Given the description of an element on the screen output the (x, y) to click on. 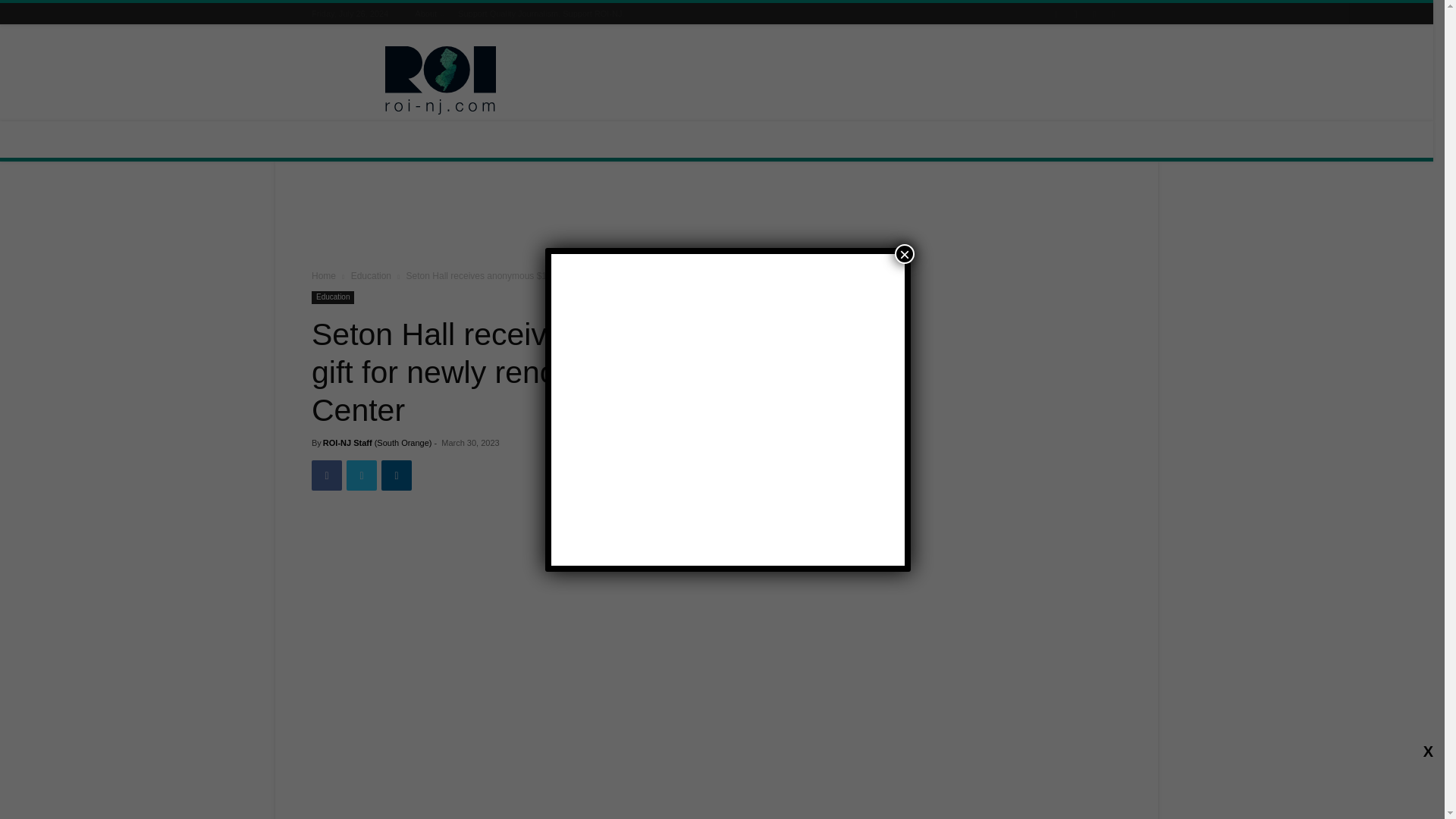
3rd party ad content (845, 79)
Linkedin (396, 475)
Twitter (361, 475)
Facebook (326, 475)
3rd party ad content (716, 218)
View all posts in Education (370, 276)
